Given the description of an element on the screen output the (x, y) to click on. 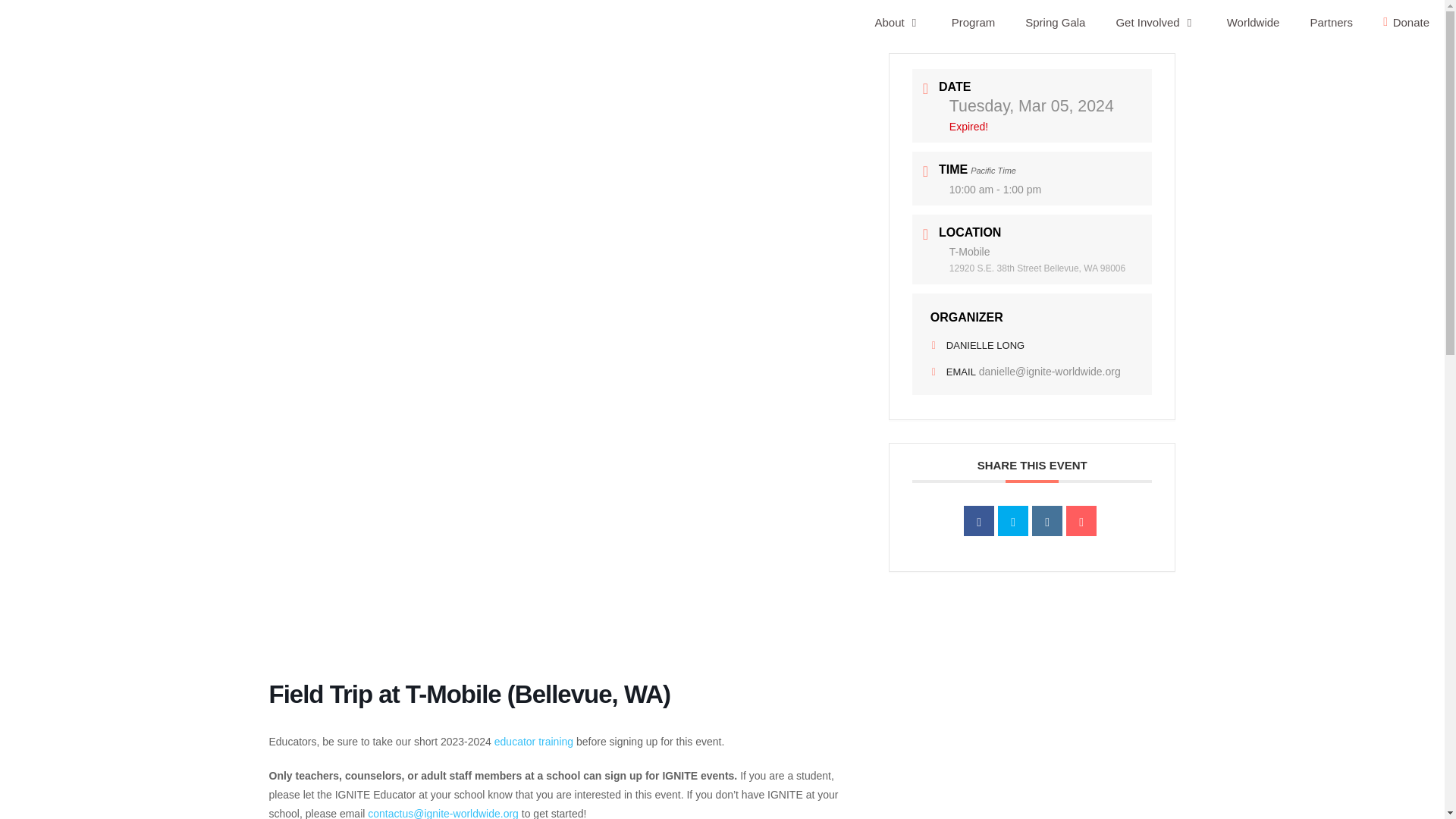
Spring Gala (1055, 22)
Email (1080, 521)
Linkedin (1047, 521)
About (898, 22)
Tweet (1012, 521)
Share on Facebook (978, 521)
Get Involved (1155, 22)
Program (973, 22)
